Given the description of an element on the screen output the (x, y) to click on. 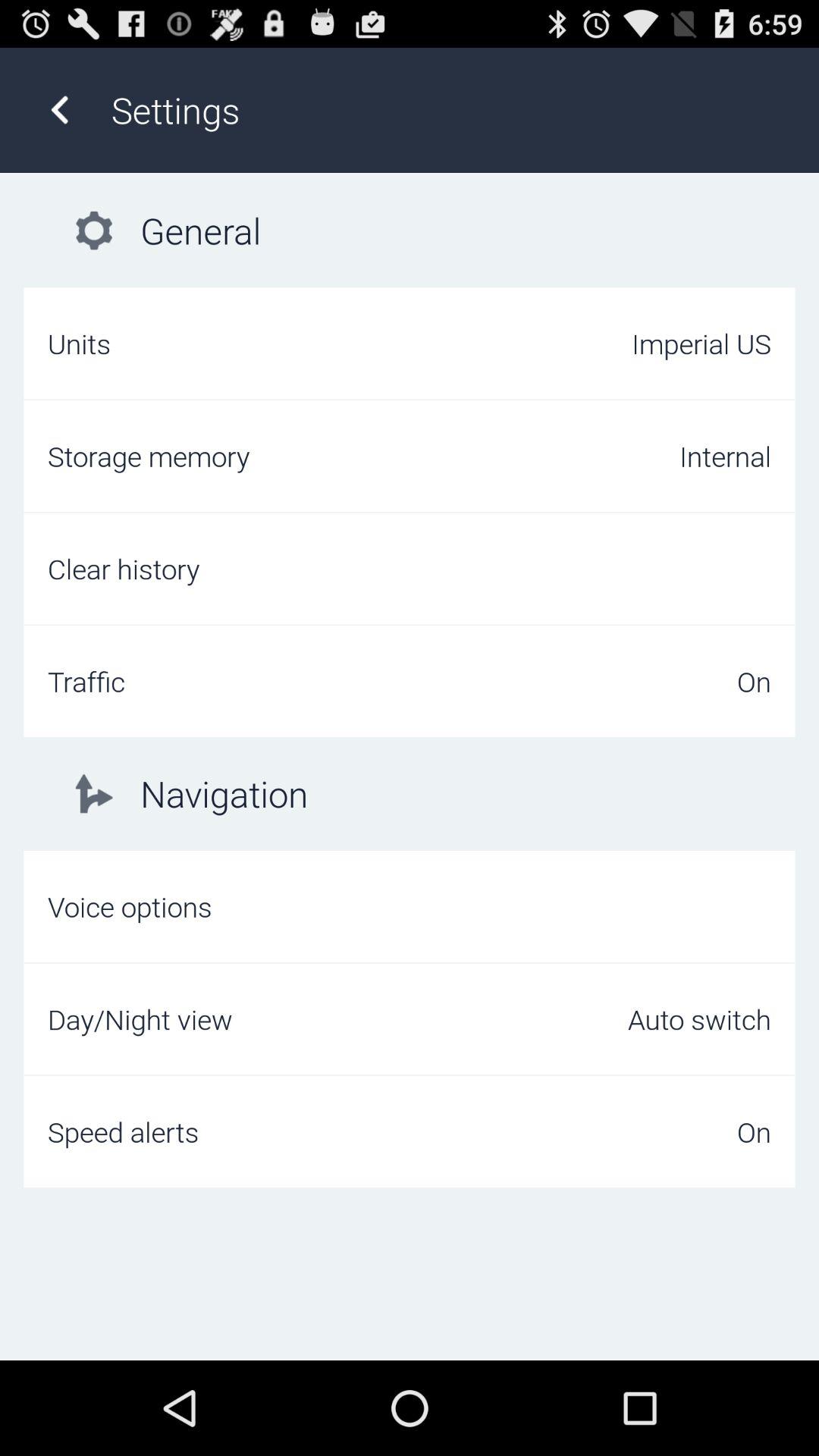
swipe until the settings icon (449, 109)
